Given the description of an element on the screen output the (x, y) to click on. 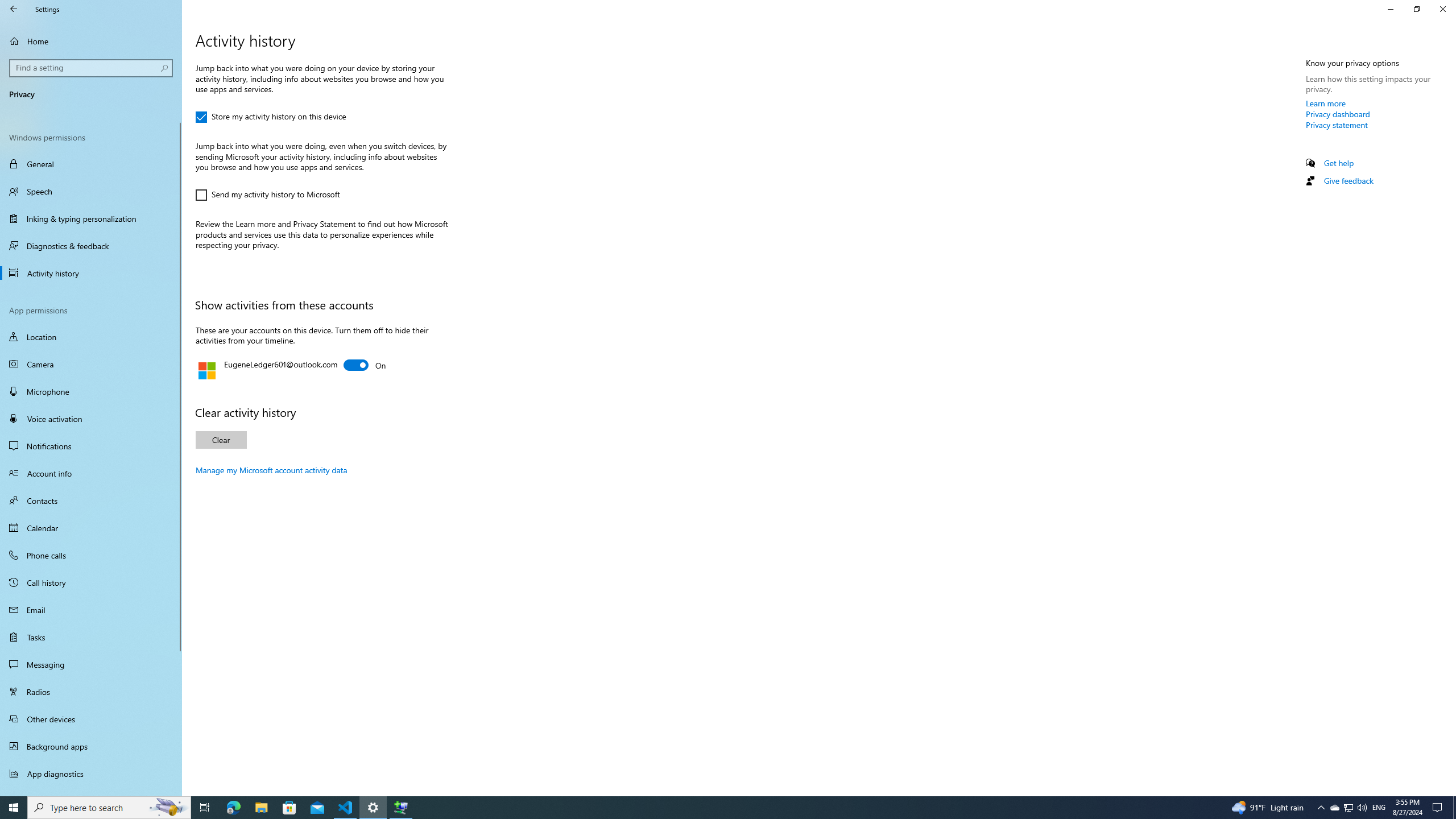
Phone calls (91, 554)
Learn more (1326, 102)
Privacy dashboard (1338, 113)
General (91, 163)
Account info (91, 472)
Manage my Microsoft account activity data (271, 469)
Inking & typing personalization (91, 217)
Automatic file downloads (91, 791)
Voice activation (91, 418)
